Given the description of an element on the screen output the (x, y) to click on. 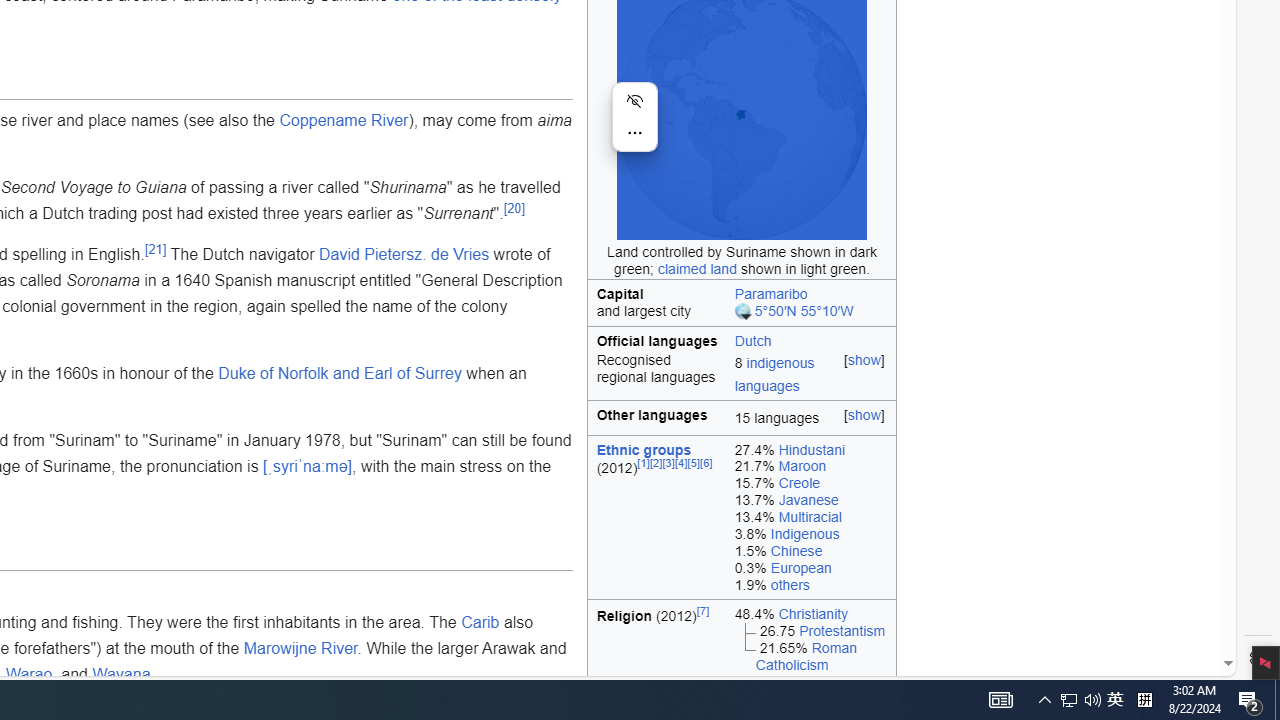
21.65% Roman Catholicism (810, 656)
Christianity (813, 613)
[2] (655, 463)
Hide menu (634, 100)
Multiracial (810, 517)
Roman Catholicism (806, 656)
Indigenous (804, 534)
Wayana (121, 674)
